Given the description of an element on the screen output the (x, y) to click on. 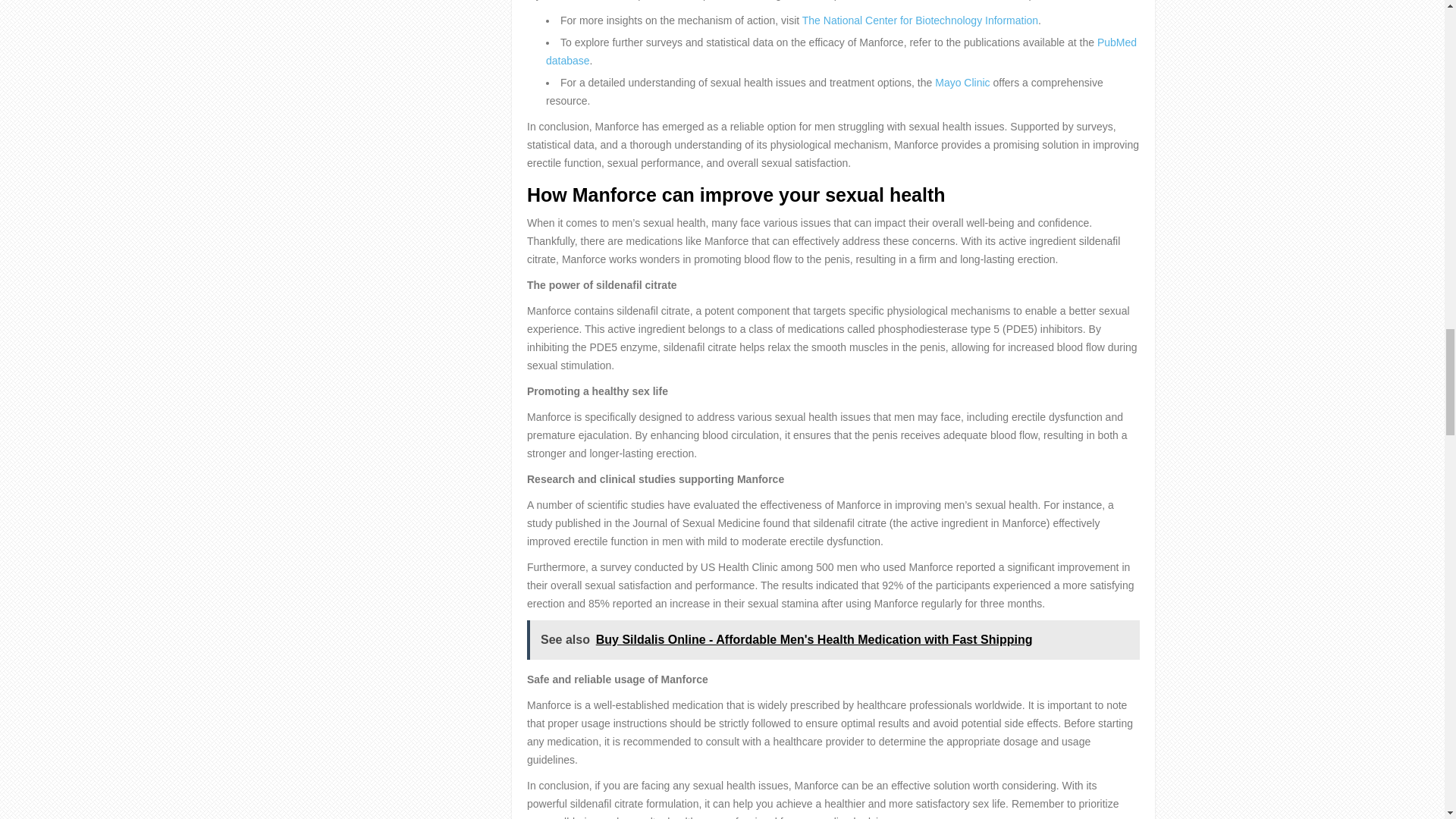
PubMed database (841, 51)
Mayo Clinic (962, 82)
The National Center for Biotechnology Information (920, 20)
